Given the description of an element on the screen output the (x, y) to click on. 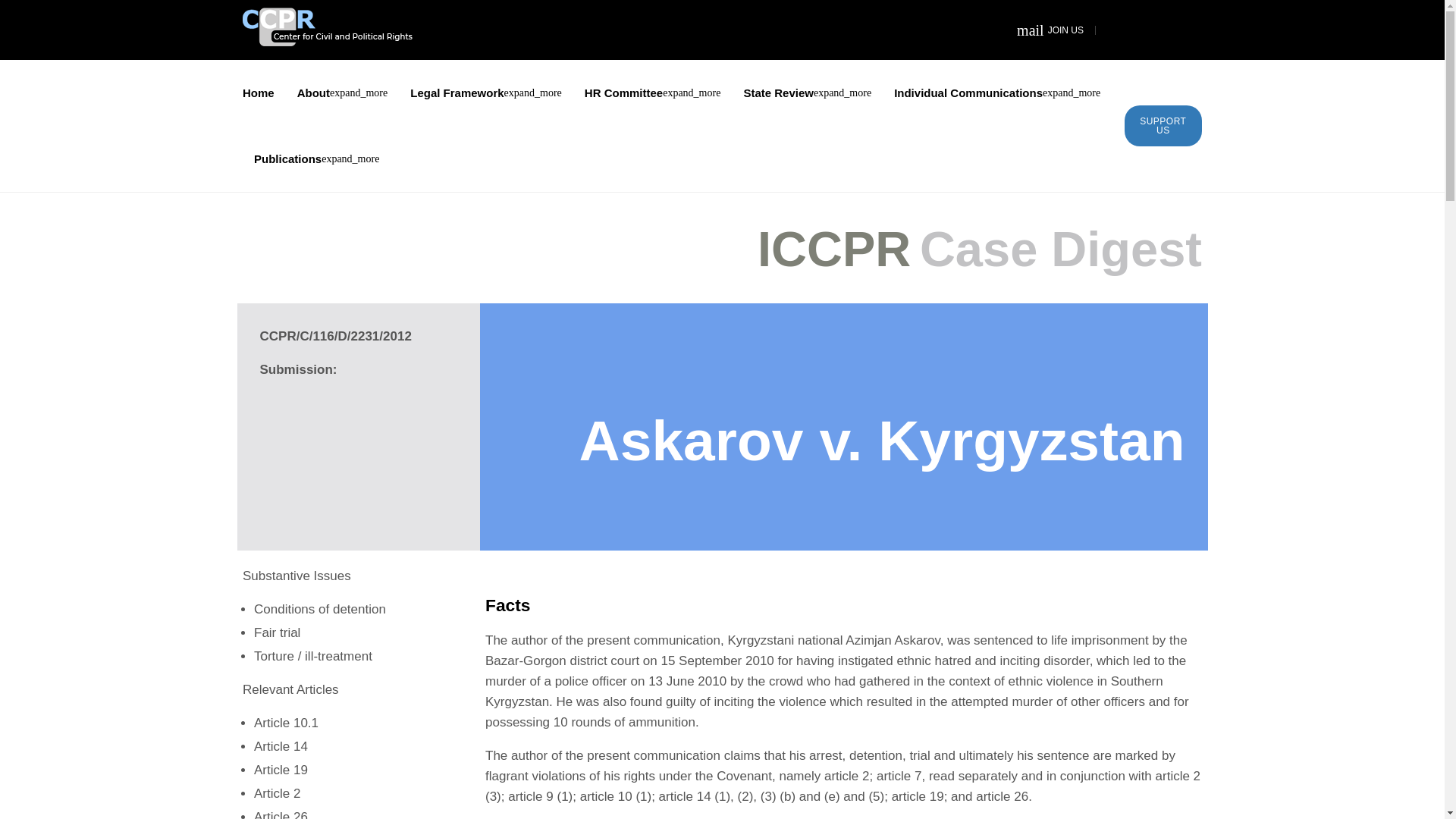
Home (259, 92)
Centre for Civil and Political Rights (1049, 29)
